Given the description of an element on the screen output the (x, y) to click on. 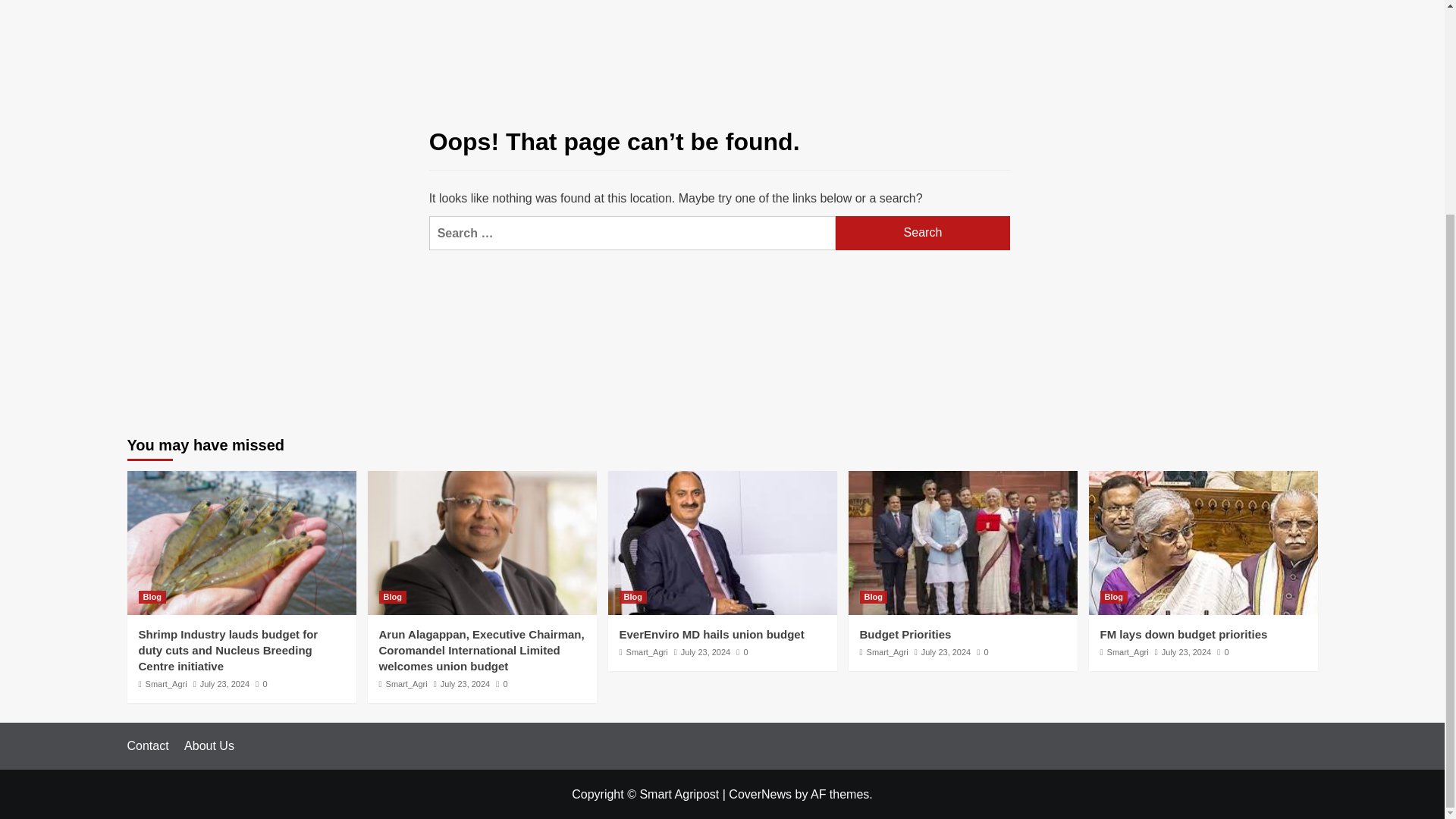
EverEnviro MD hails union budget (710, 634)
Search (922, 233)
July 23, 2024 (465, 683)
0 (742, 651)
Blog (632, 596)
0 (261, 683)
Blog (392, 596)
July 23, 2024 (224, 683)
Blog (151, 596)
July 23, 2024 (705, 651)
Search (922, 233)
Search (922, 233)
0 (501, 683)
